Given the description of an element on the screen output the (x, y) to click on. 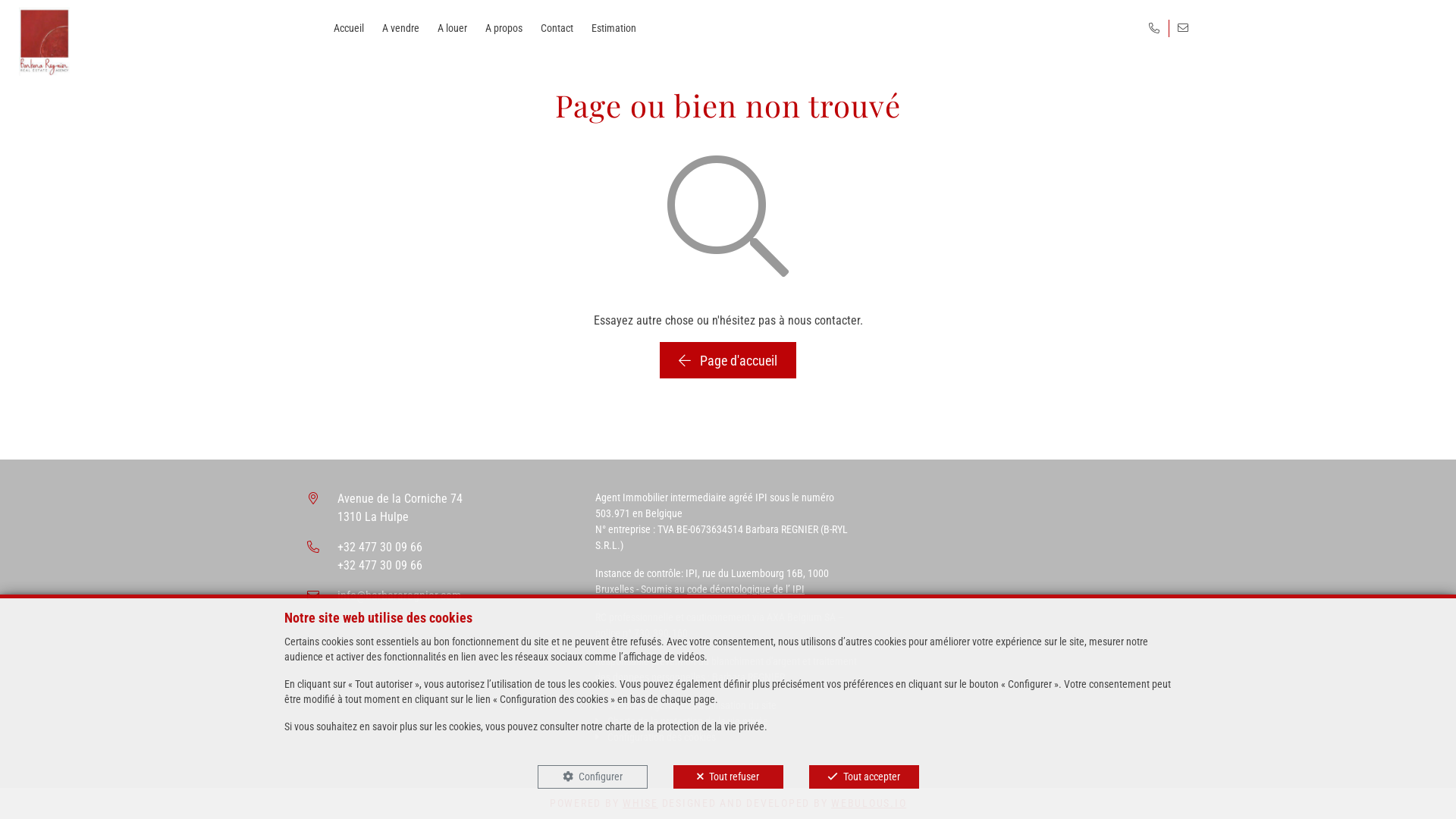
Tout refuser Element type: text (728, 776)
A louer Element type: text (452, 28)
Tout accepter Element type: text (863, 776)
Estimation Element type: text (613, 28)
Configuration des cookies Element type: text (655, 737)
+32 477 30 09 66 Element type: text (379, 565)
Configurer Element type: text (591, 776)
A propos Element type: text (503, 28)
Accueil Element type: text (348, 28)
info@barbararegnier.com Element type: text (399, 595)
A vendre Element type: text (400, 28)
POWERED BY WHISE Element type: text (603, 803)
+32 477 30 09 66 Element type: text (379, 546)
DESIGNED AND DEVELOPED BY WEBULOUS.IO Element type: text (783, 803)
Contact Element type: text (556, 28)
Page d'accueil Element type: text (727, 360)
